Given the description of an element on the screen output the (x, y) to click on. 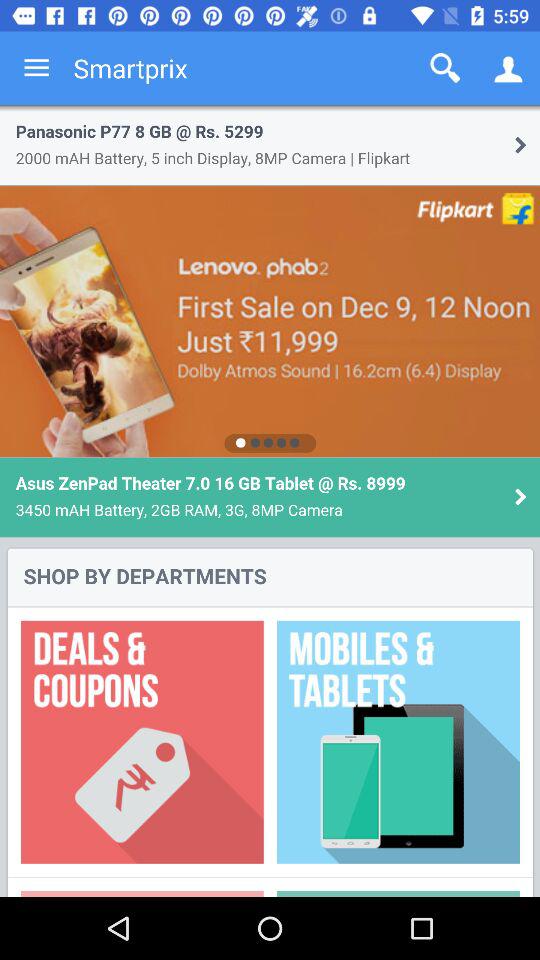
display screen (270, 501)
